Given the description of an element on the screen output the (x, y) to click on. 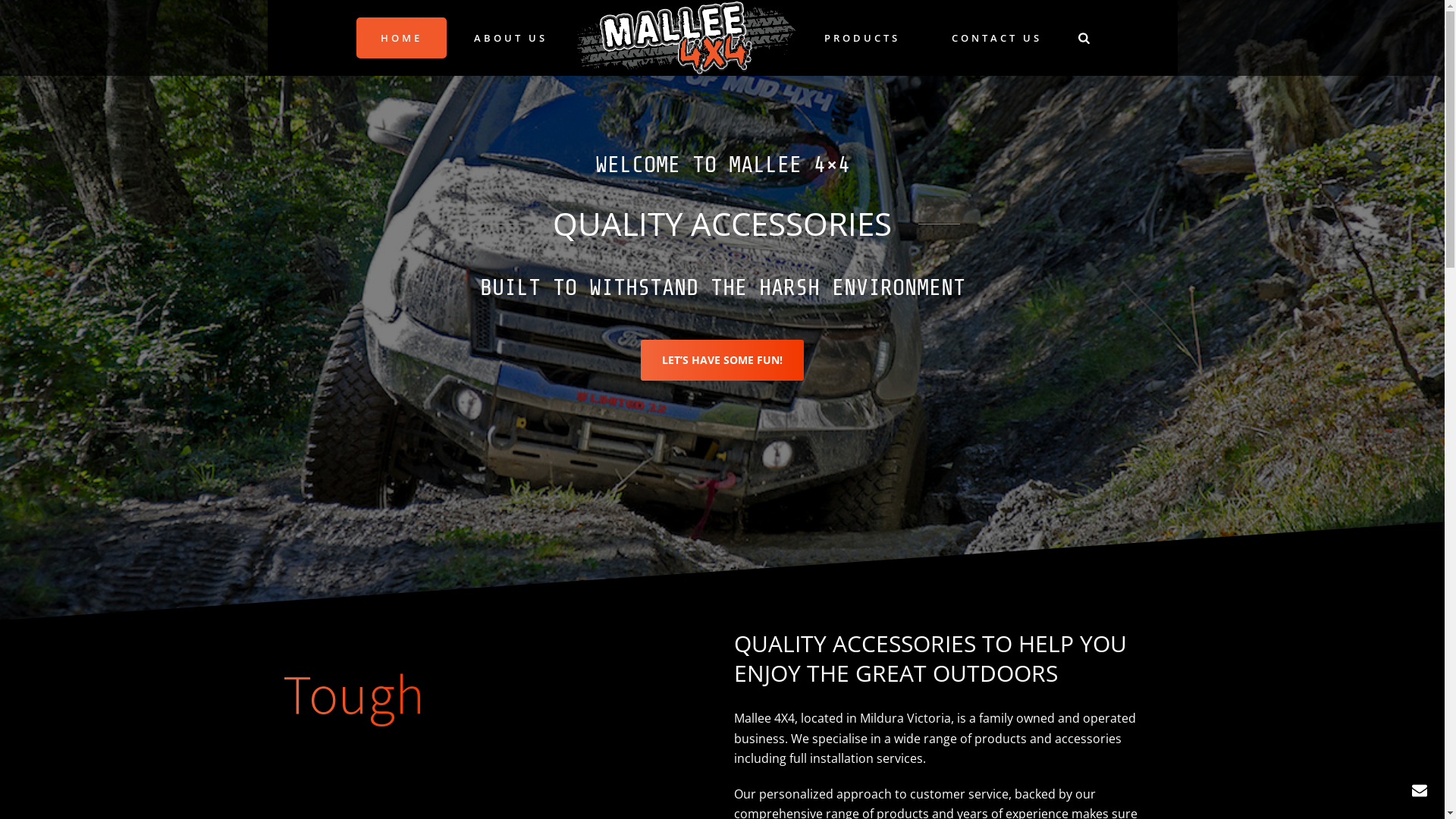
HOME Element type: text (401, 37)
PRODUCTS Element type: text (862, 37)
ABOUT US Element type: text (510, 37)
CONTACT US Element type: text (996, 37)
